Given the description of an element on the screen output the (x, y) to click on. 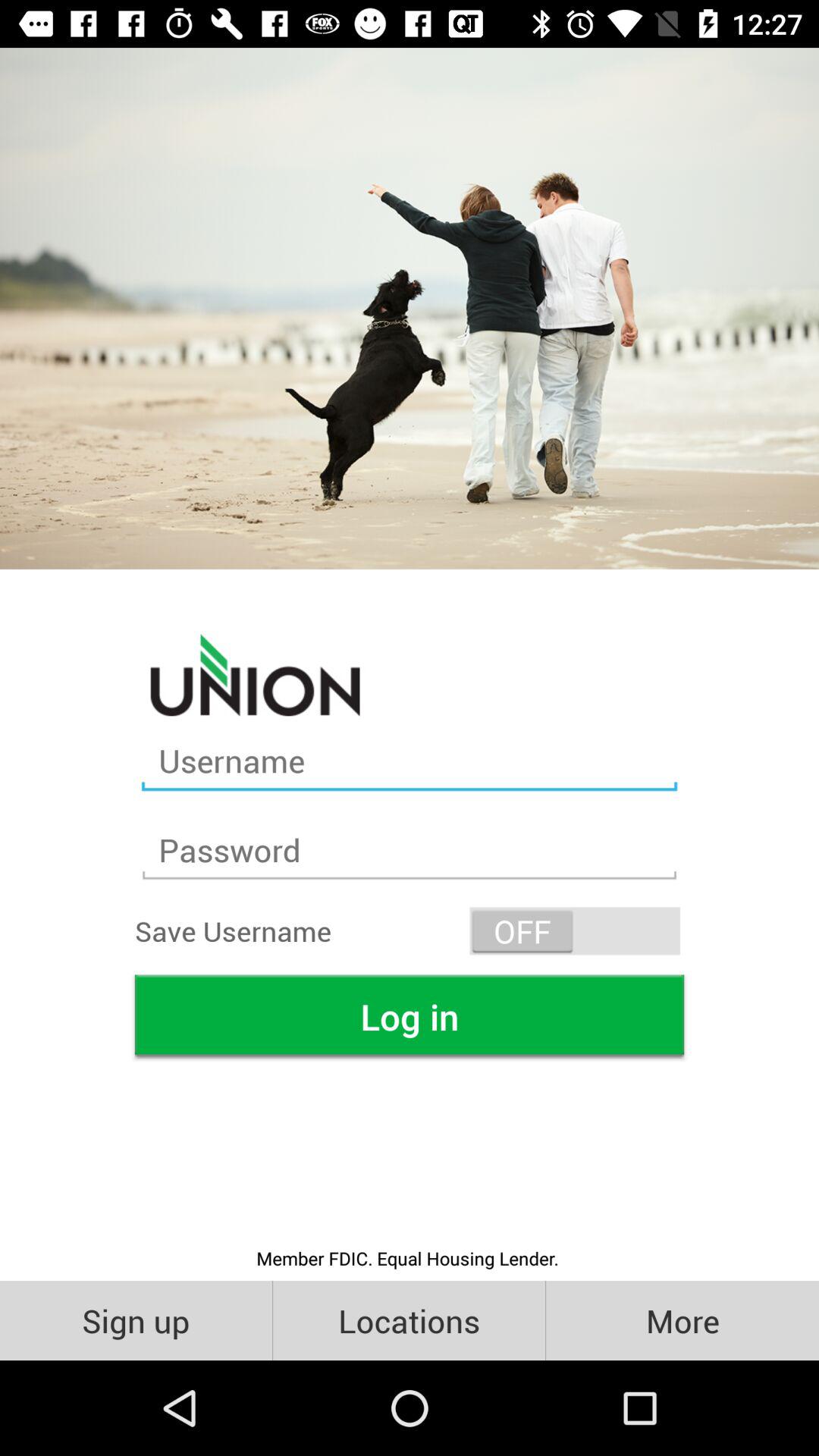
select the icon above log in item (574, 930)
